Given the description of an element on the screen output the (x, y) to click on. 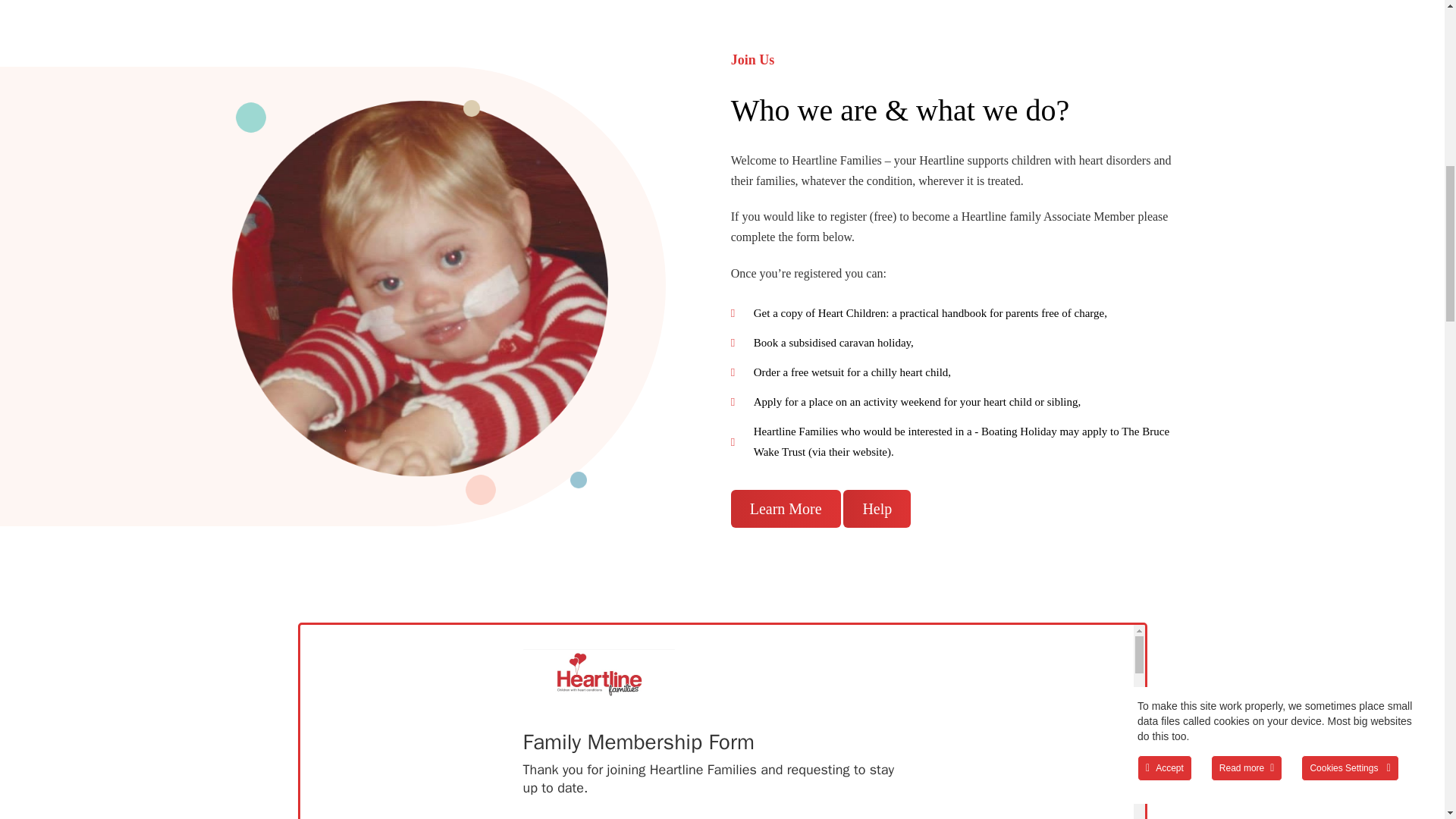
Help (877, 508)
Learn More (785, 508)
